Given the description of an element on the screen output the (x, y) to click on. 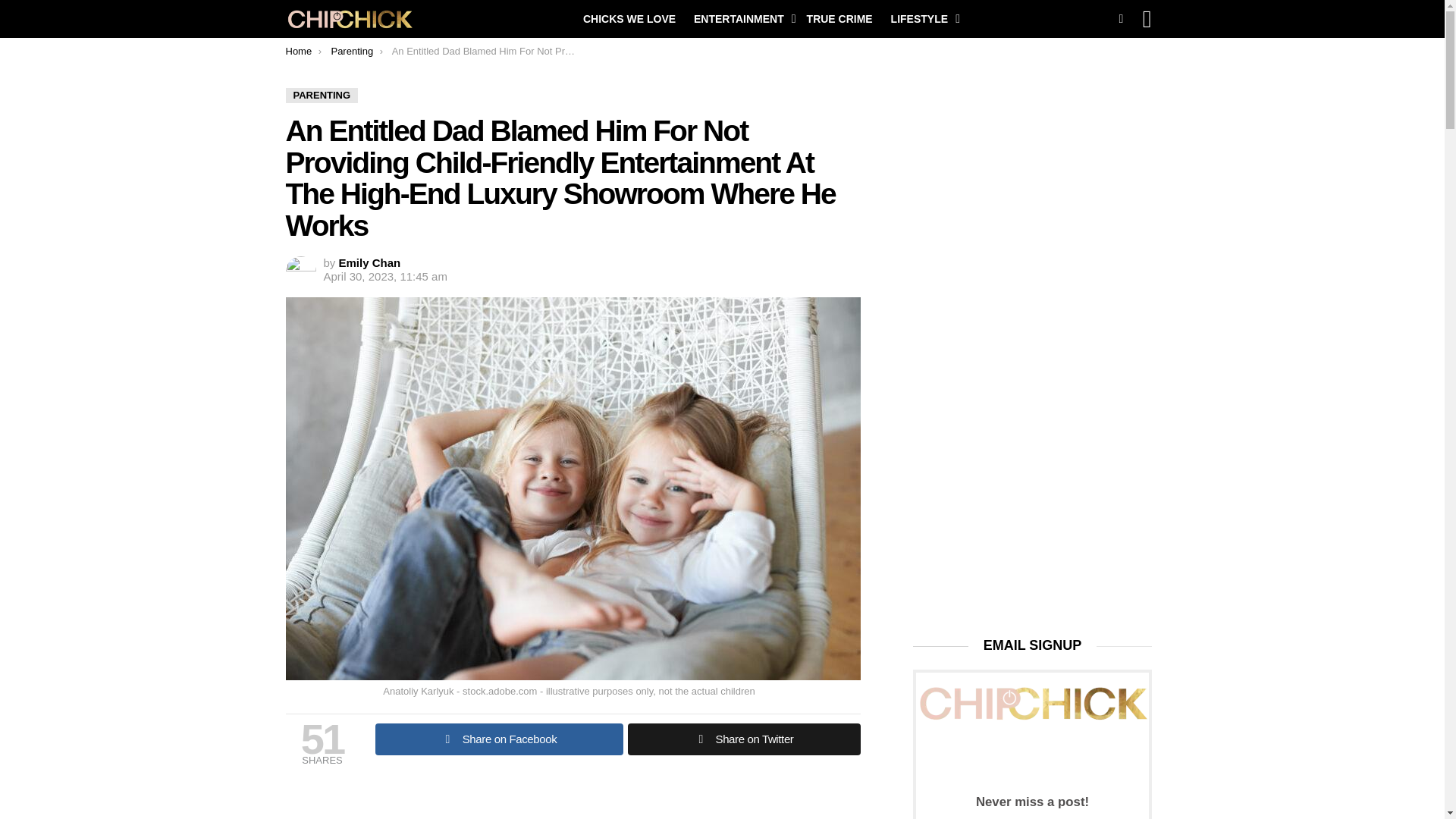
ENTERTAINMENT (740, 18)
PARENTING (321, 95)
Parenting (351, 50)
LIFESTYLE (921, 18)
Home (298, 50)
Share on Twitter (743, 739)
Posts by Emily Chan (370, 262)
Emily Chan (370, 262)
TRUE CRIME (839, 18)
CHICKS WE LOVE (628, 18)
